Given the description of an element on the screen output the (x, y) to click on. 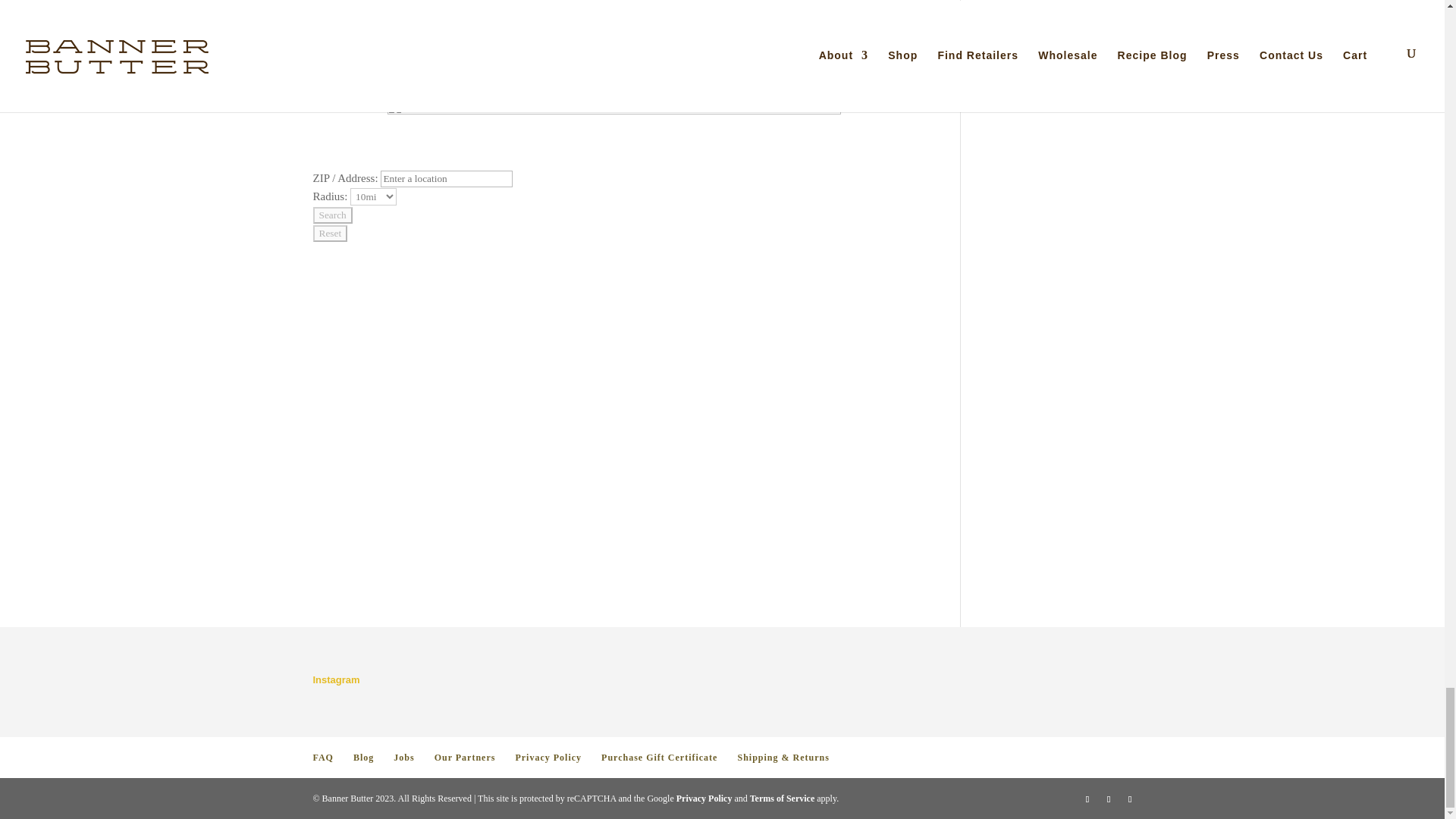
Search (332, 215)
Search (332, 215)
ADD TO CART (776, 23)
Reset (330, 233)
